Given the description of an element on the screen output the (x, y) to click on. 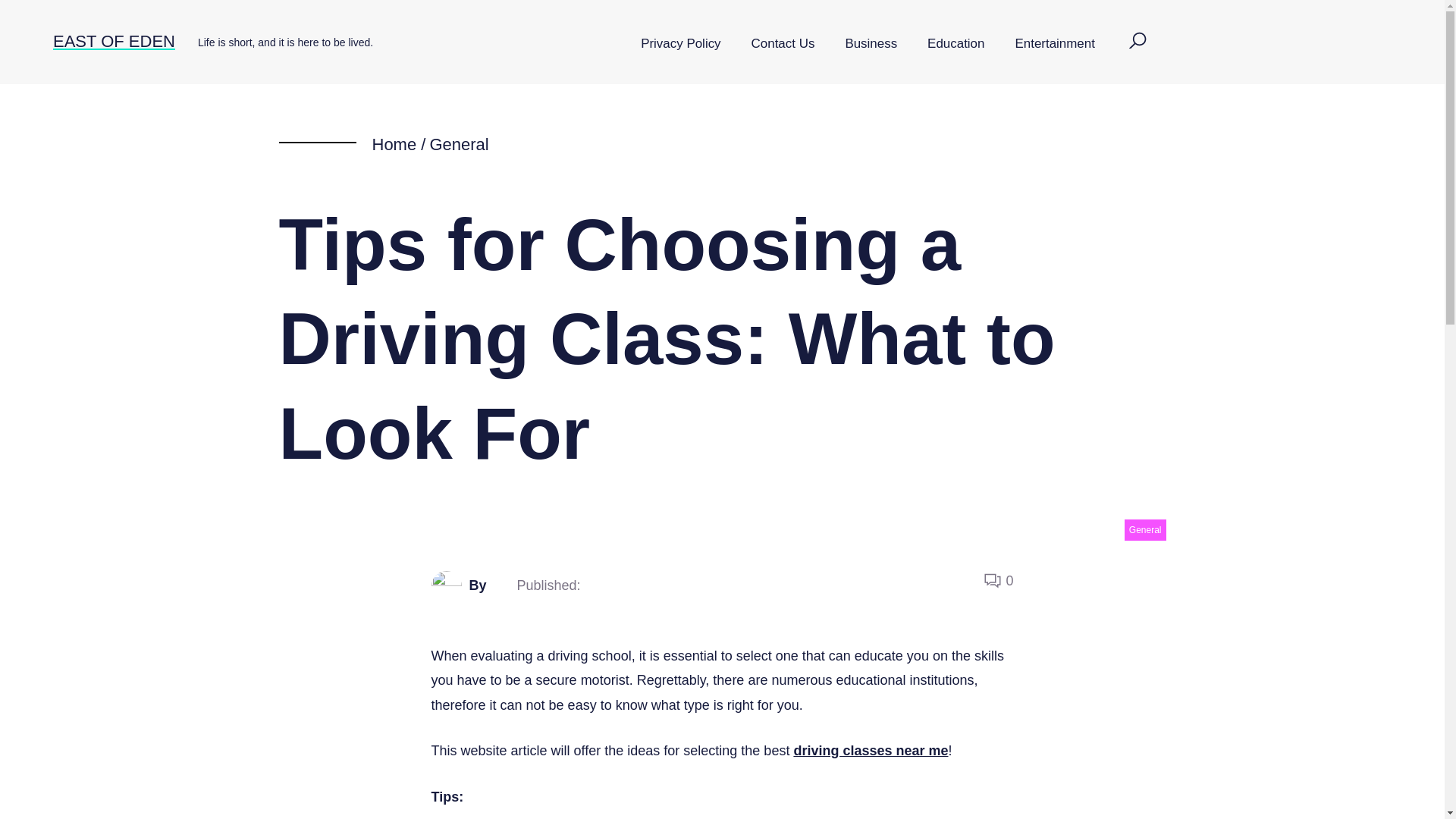
Entertainment (1053, 43)
EAST OF EDEN (113, 40)
Education (955, 43)
Privacy Policy (680, 43)
driving classes near me (870, 750)
Home (393, 144)
Contact Us (782, 43)
Business (870, 43)
General (458, 144)
General (1145, 529)
